Given the description of an element on the screen output the (x, y) to click on. 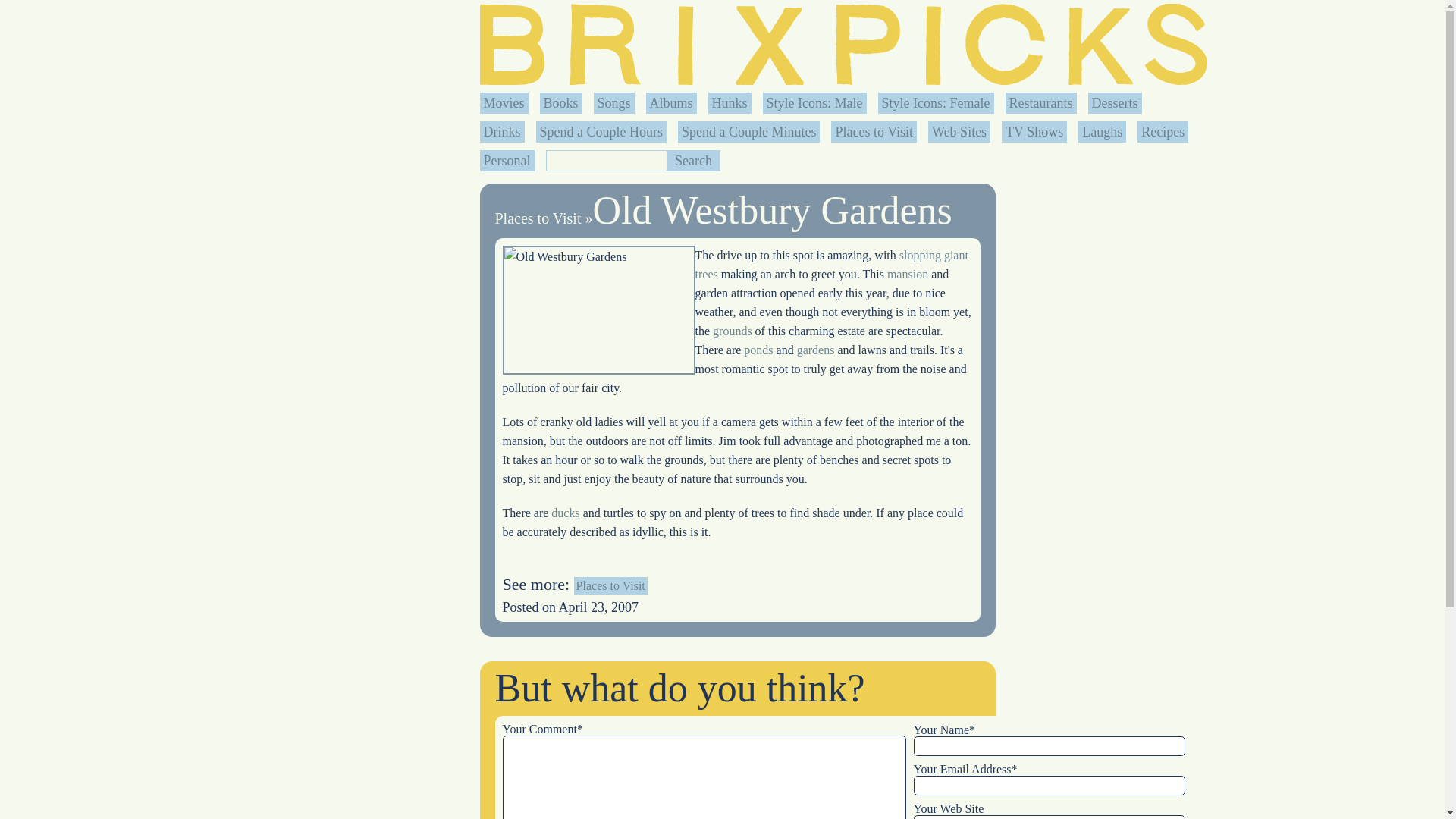
slopping giant trees (831, 264)
Style Icons: Female (936, 102)
Songs (613, 102)
ducks (565, 512)
Drinks (502, 131)
Recipes (1163, 131)
Personal (507, 160)
mansion (907, 273)
Style Icons: Male (815, 102)
Albums (671, 102)
